Given the description of an element on the screen output the (x, y) to click on. 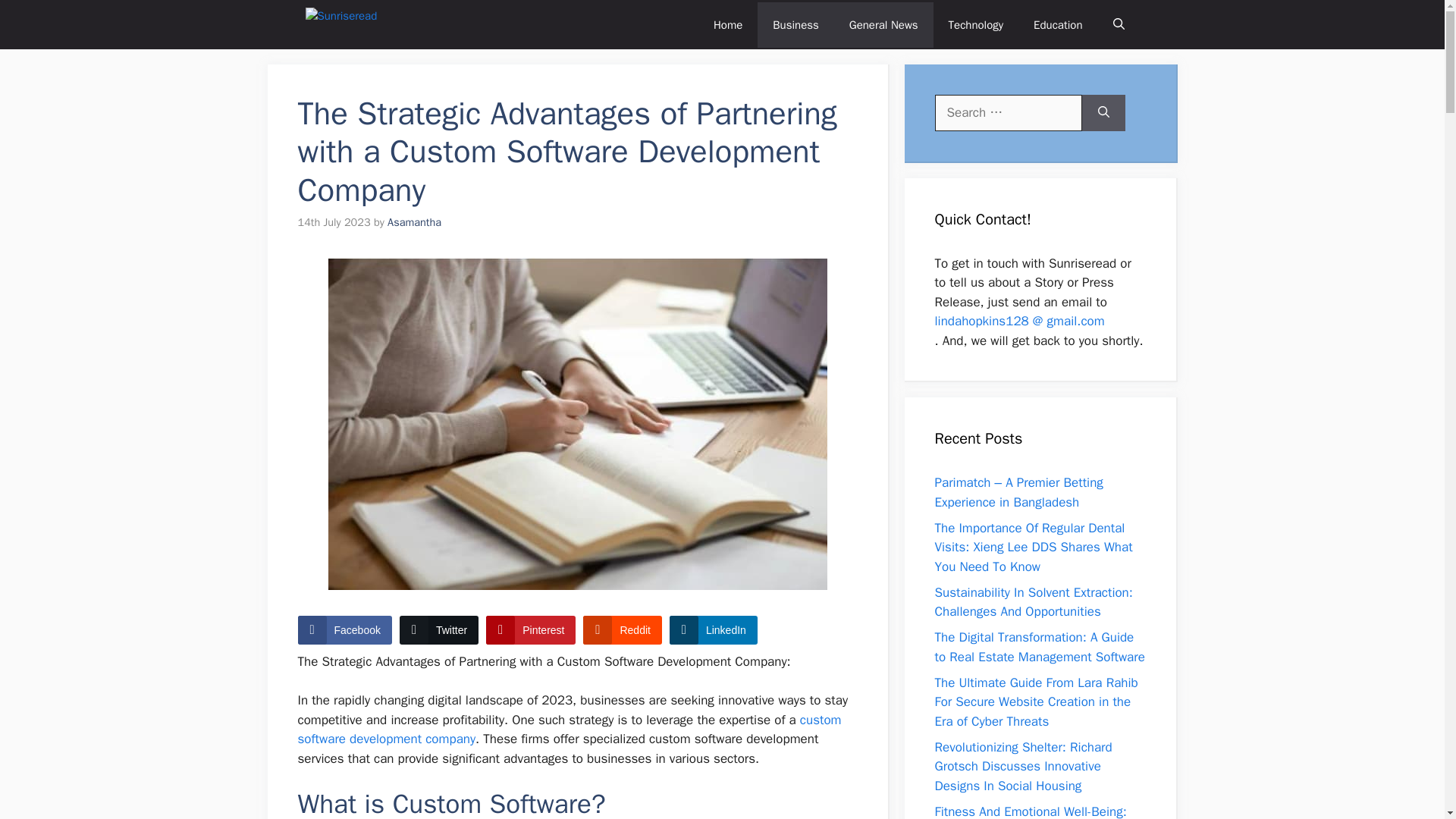
Search for: (1007, 113)
Sunriseread (355, 24)
Education (1057, 23)
General News (883, 23)
Twitter (438, 629)
Home (727, 23)
Business (795, 23)
View all posts by Asamantha (414, 222)
